Given the description of an element on the screen output the (x, y) to click on. 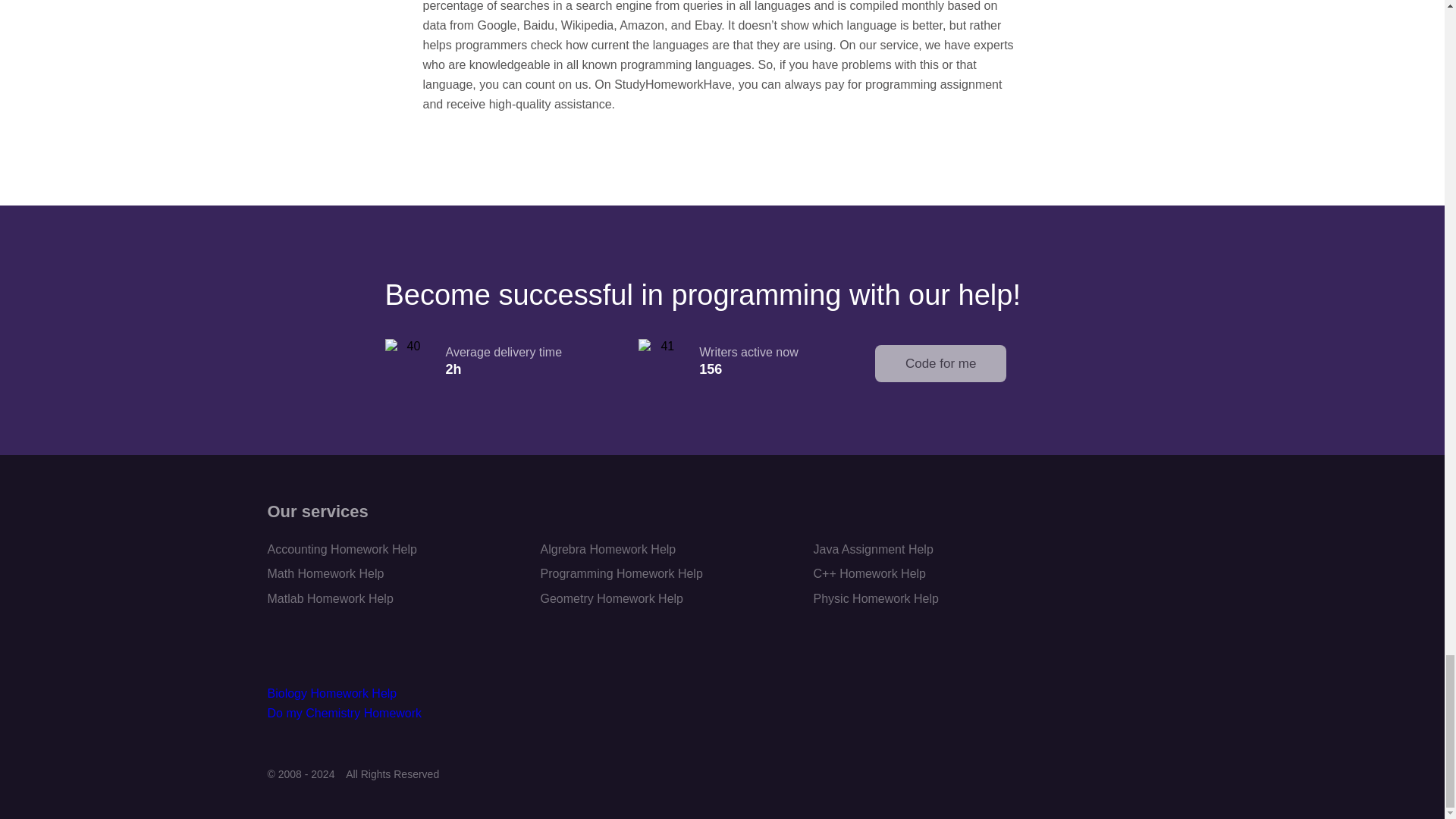
Accounting Homework Help (341, 549)
Physic Homework Help (874, 598)
Do my Chemistry Homework (344, 712)
Biology Homework Help (331, 693)
Code for me (941, 363)
Algrebra Homework Help (607, 549)
Matlab Homework Help (329, 598)
Java Assignment Help (872, 549)
Programming Homework Help (620, 573)
Geometry Homework Help (611, 598)
Math Homework Help (325, 573)
